Given the description of an element on the screen output the (x, y) to click on. 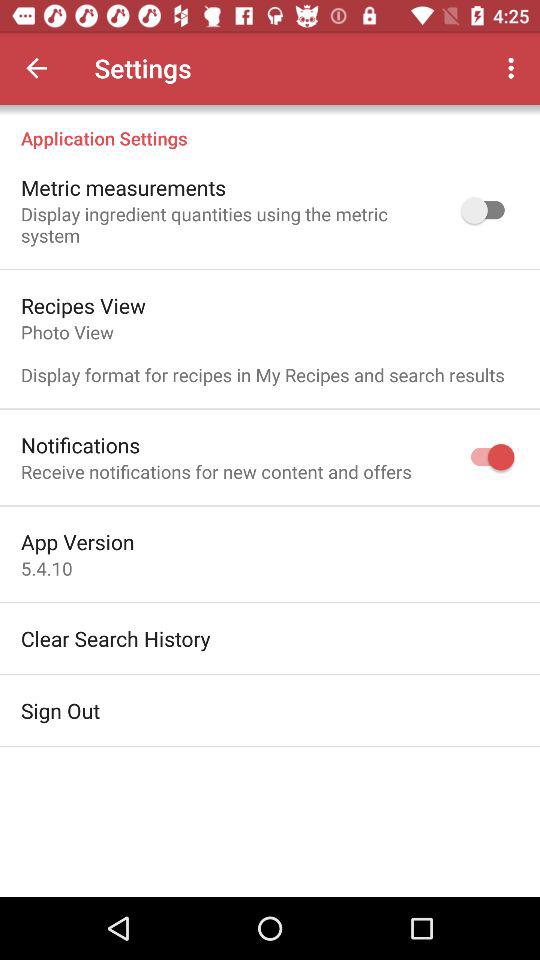
turn on icon below the notifications icon (216, 471)
